Given the description of an element on the screen output the (x, y) to click on. 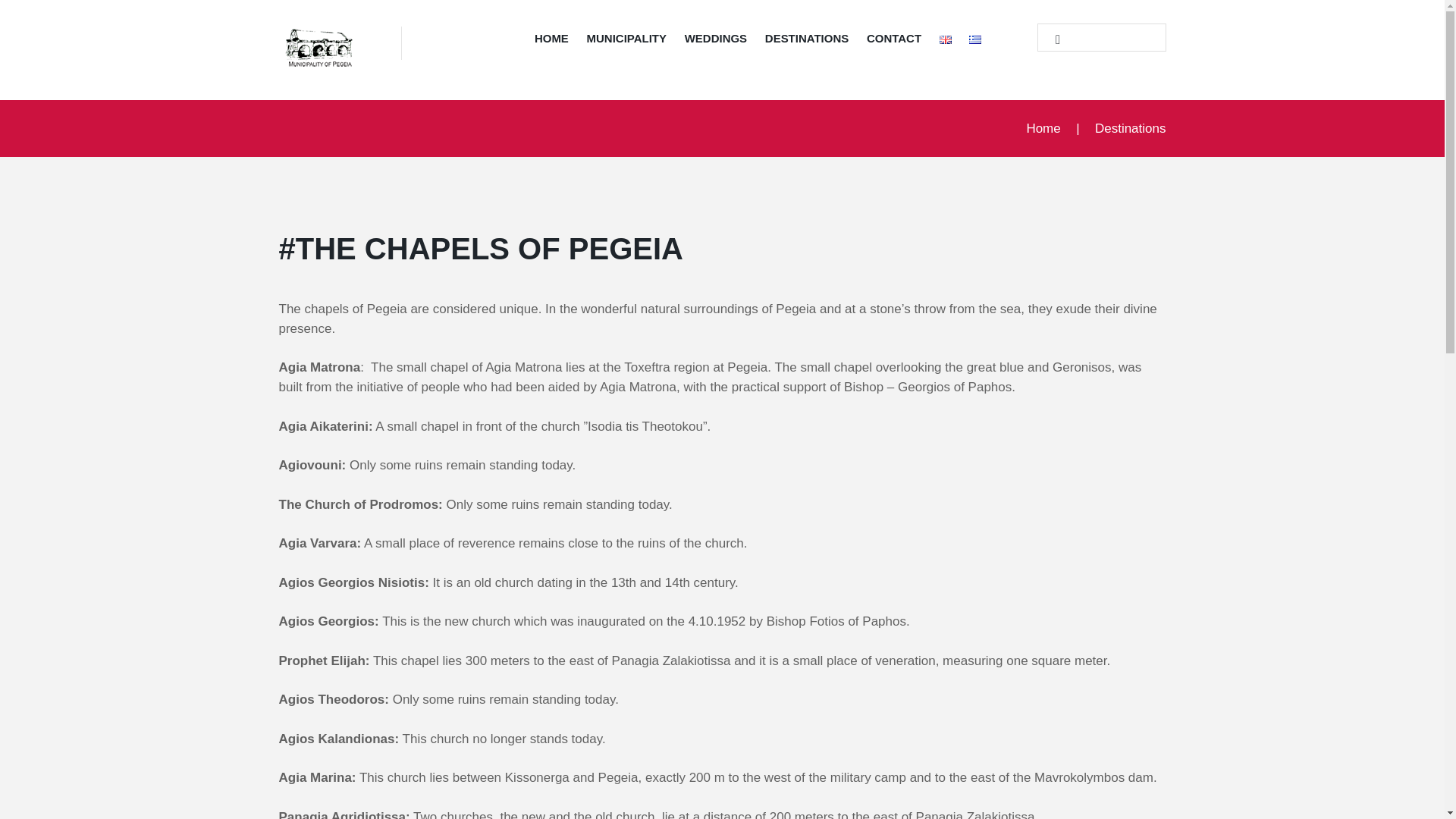
Start search (1051, 39)
WEDDINGS (715, 40)
MUNICIPALITY (626, 40)
English (945, 40)
